Given the description of an element on the screen output the (x, y) to click on. 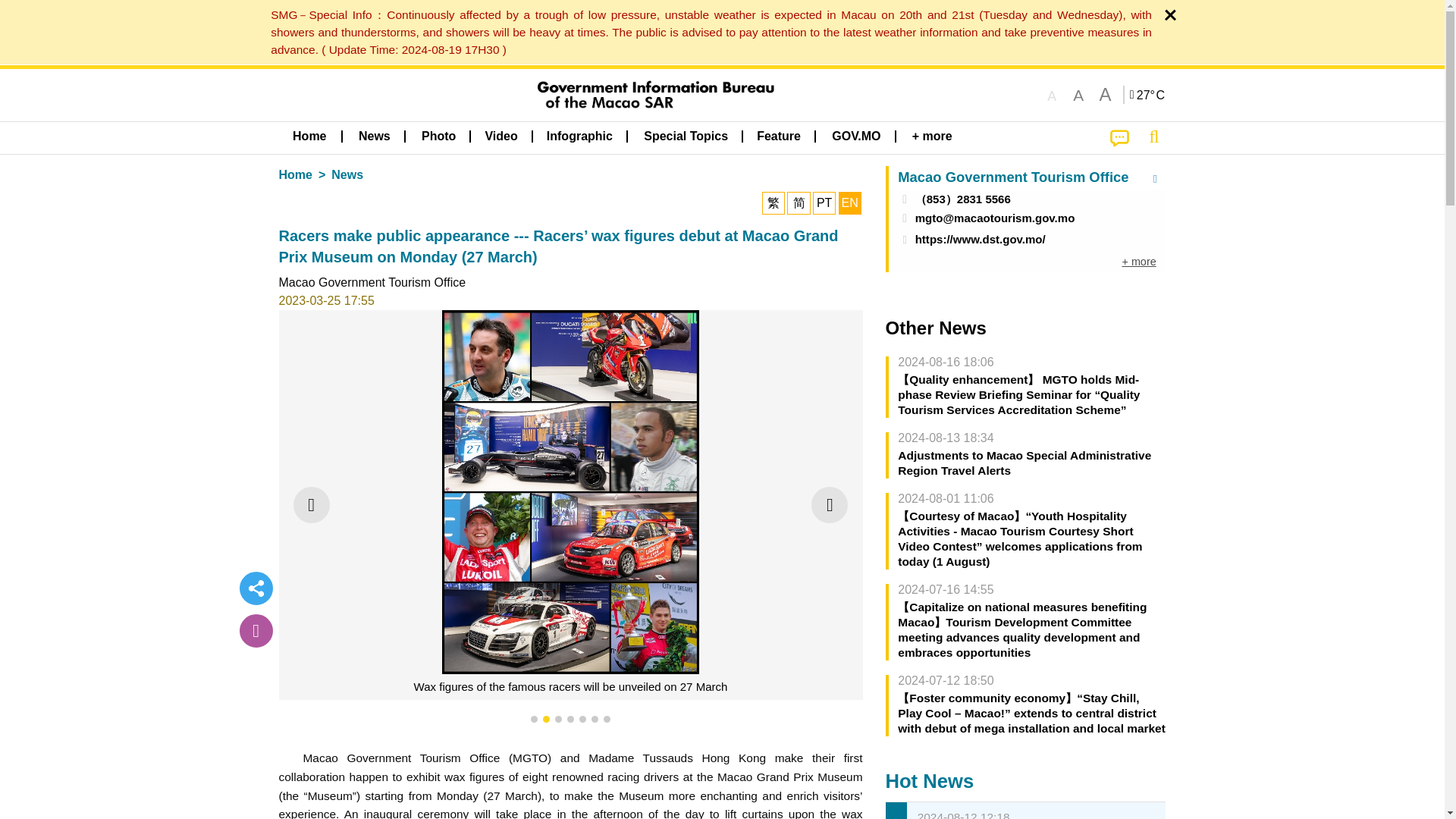
Suggestions (1118, 137)
A (1104, 95)
Special Info (708, 32)
A (1051, 95)
A (1077, 95)
Home (309, 136)
Special Info (1147, 94)
